Given the description of an element on the screen output the (x, y) to click on. 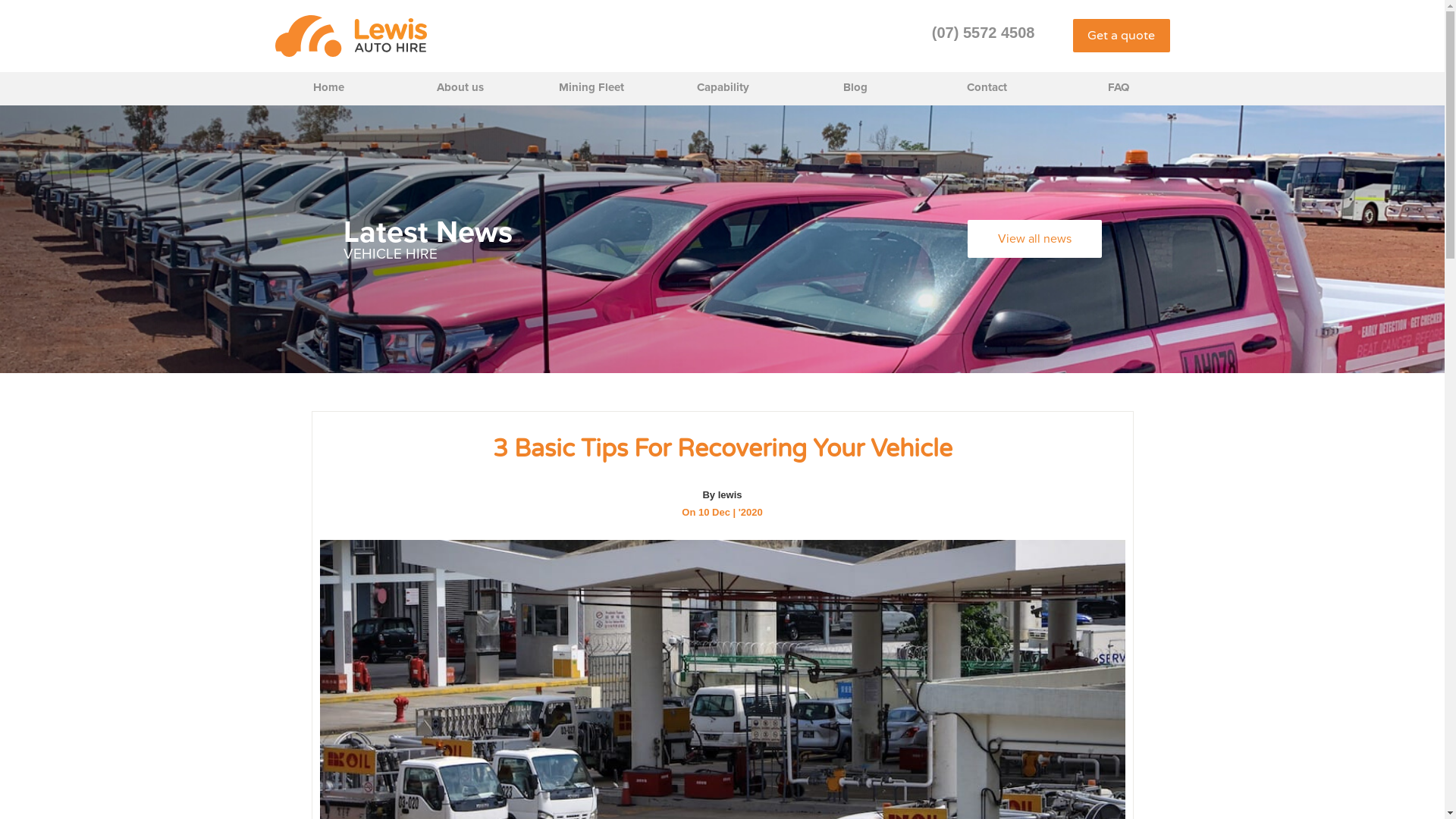
Capability Element type: text (723, 88)
About us Element type: text (460, 88)
Get a quote Element type: text (1120, 35)
View all news Element type: text (1034, 238)
(07) 5572 4508 Element type: text (983, 33)
Blog Element type: text (855, 88)
Mining Fleet Element type: text (592, 88)
Contact Element type: text (986, 88)
Home Element type: text (328, 88)
FAQ Element type: text (1118, 88)
